Given the description of an element on the screen output the (x, y) to click on. 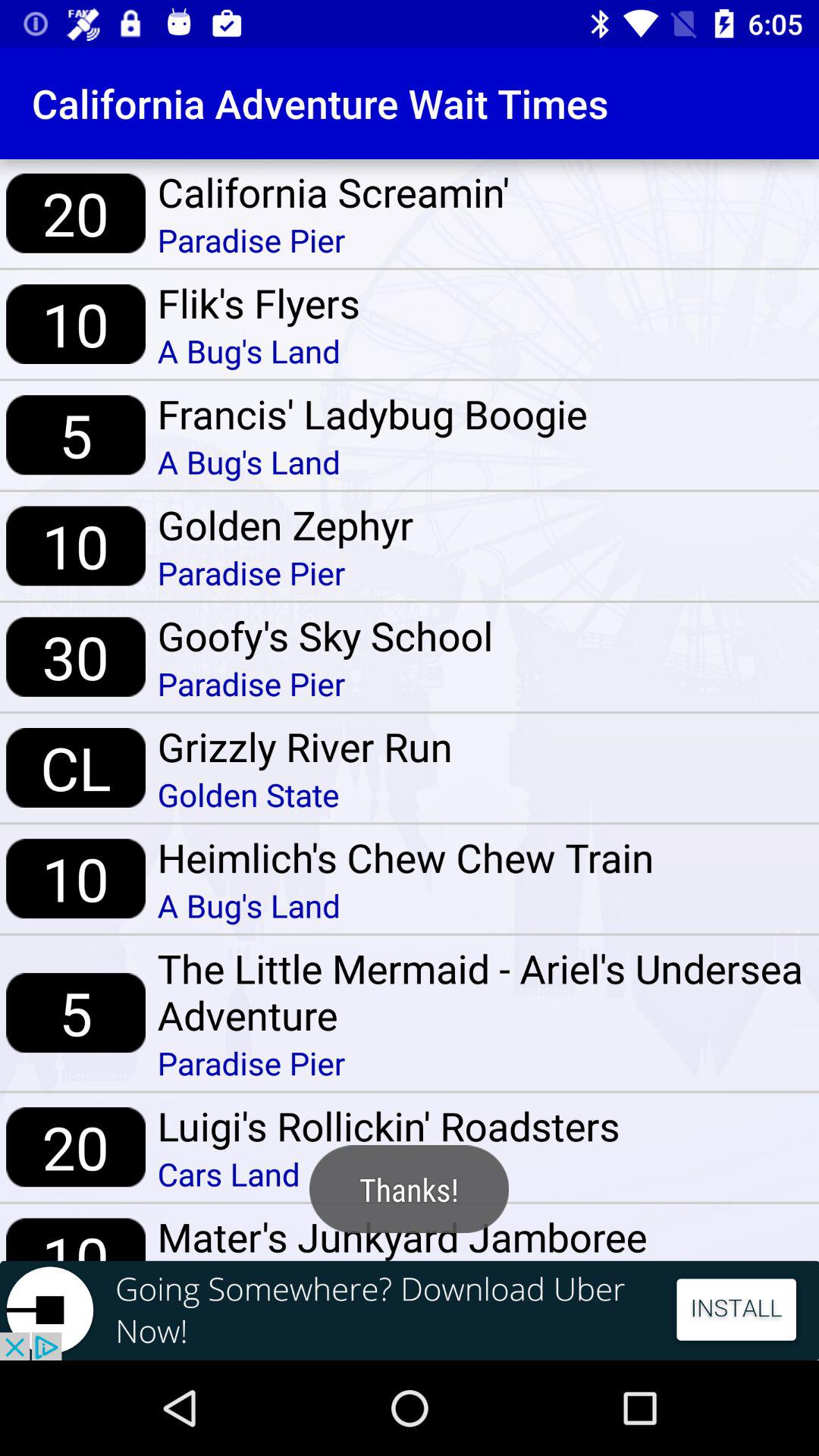
launch the golden zephyr item (285, 524)
